Given the description of an element on the screen output the (x, y) to click on. 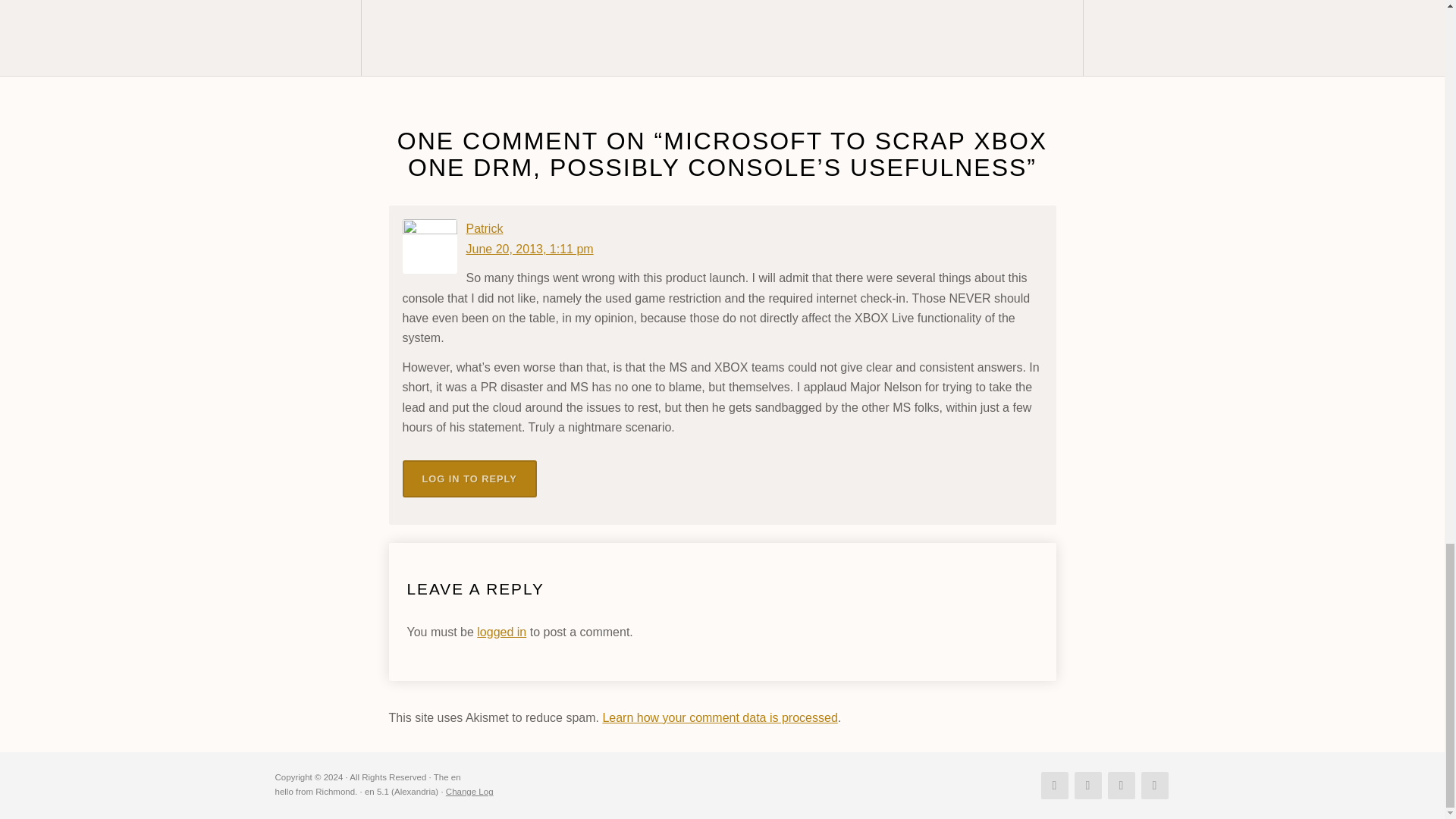
June 20, 2013, 1:11 pm (528, 248)
LOG IN TO REPLY (468, 478)
Patrick (483, 228)
logged in (501, 631)
Change Log (469, 791)
Learn how your comment data is processed (719, 717)
